Given the description of an element on the screen output the (x, y) to click on. 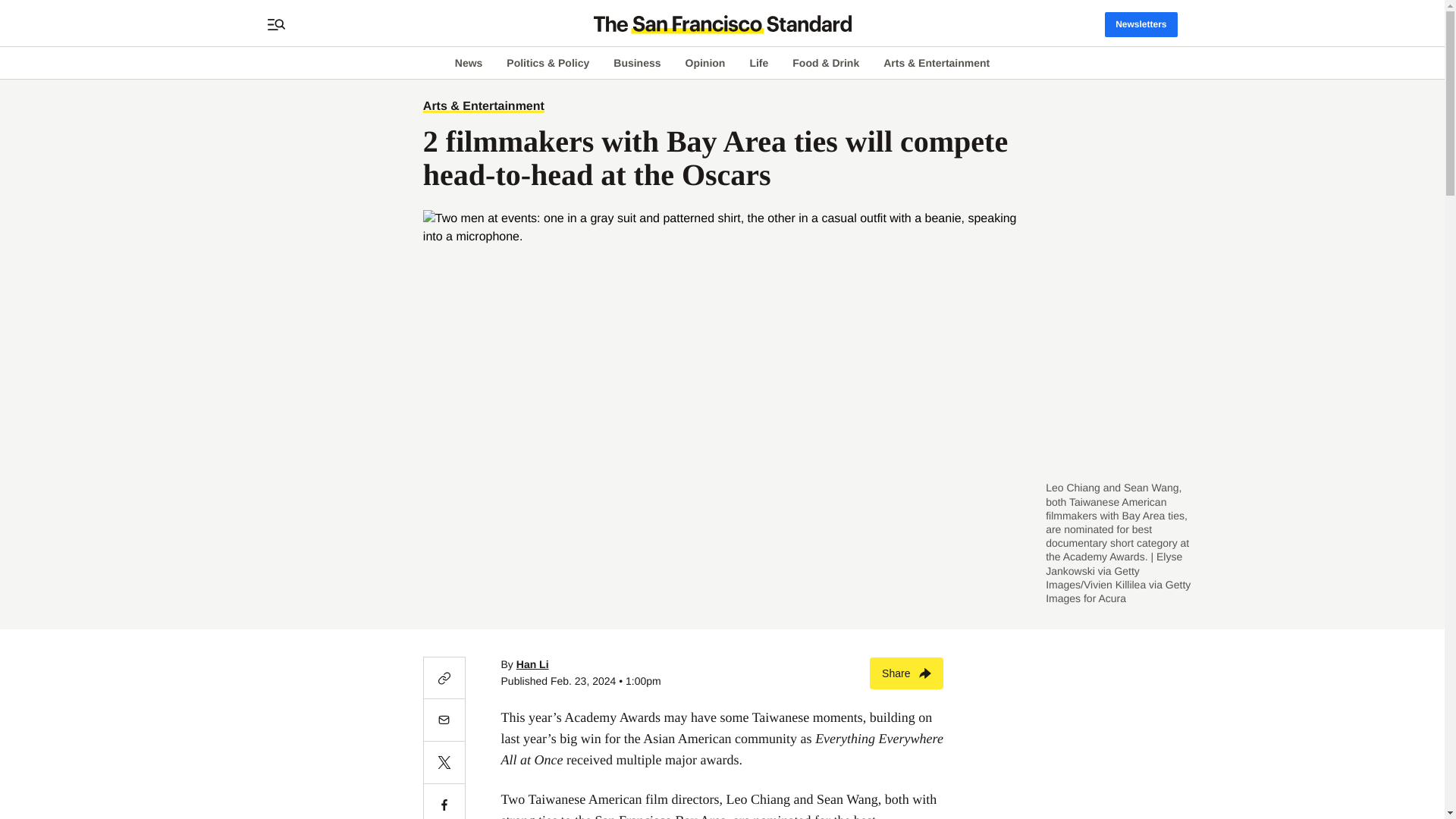
Opinion (705, 62)
News (468, 62)
Life (758, 62)
Newsletters (1140, 24)
Business (636, 62)
Open search bar and full menu (275, 24)
Share (906, 673)
Copy link to this article (444, 677)
Han Li (532, 664)
